Given the description of an element on the screen output the (x, y) to click on. 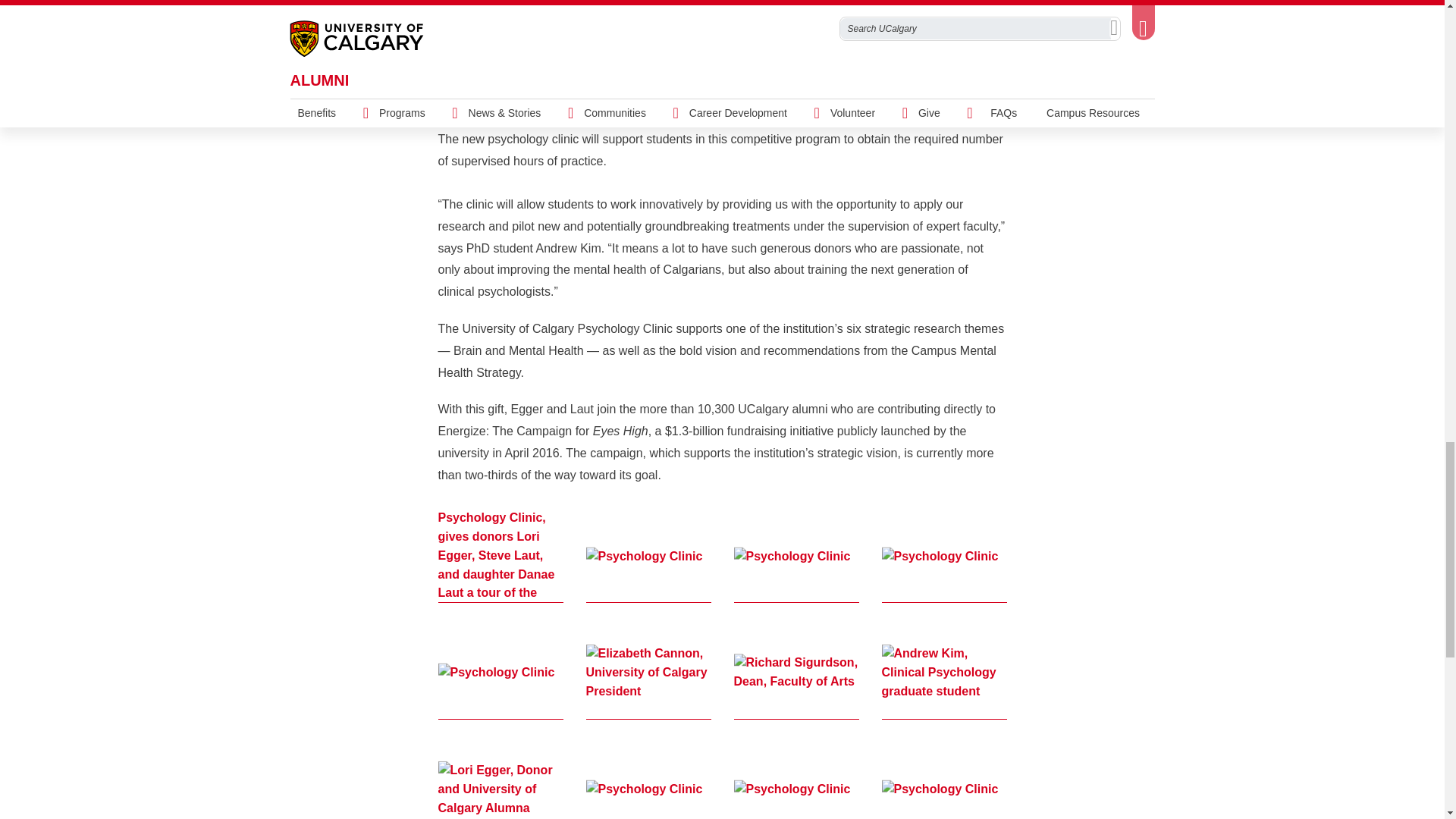
University of Calgary establishes in-house psychology clinic (722, 9)
